Given the description of an element on the screen output the (x, y) to click on. 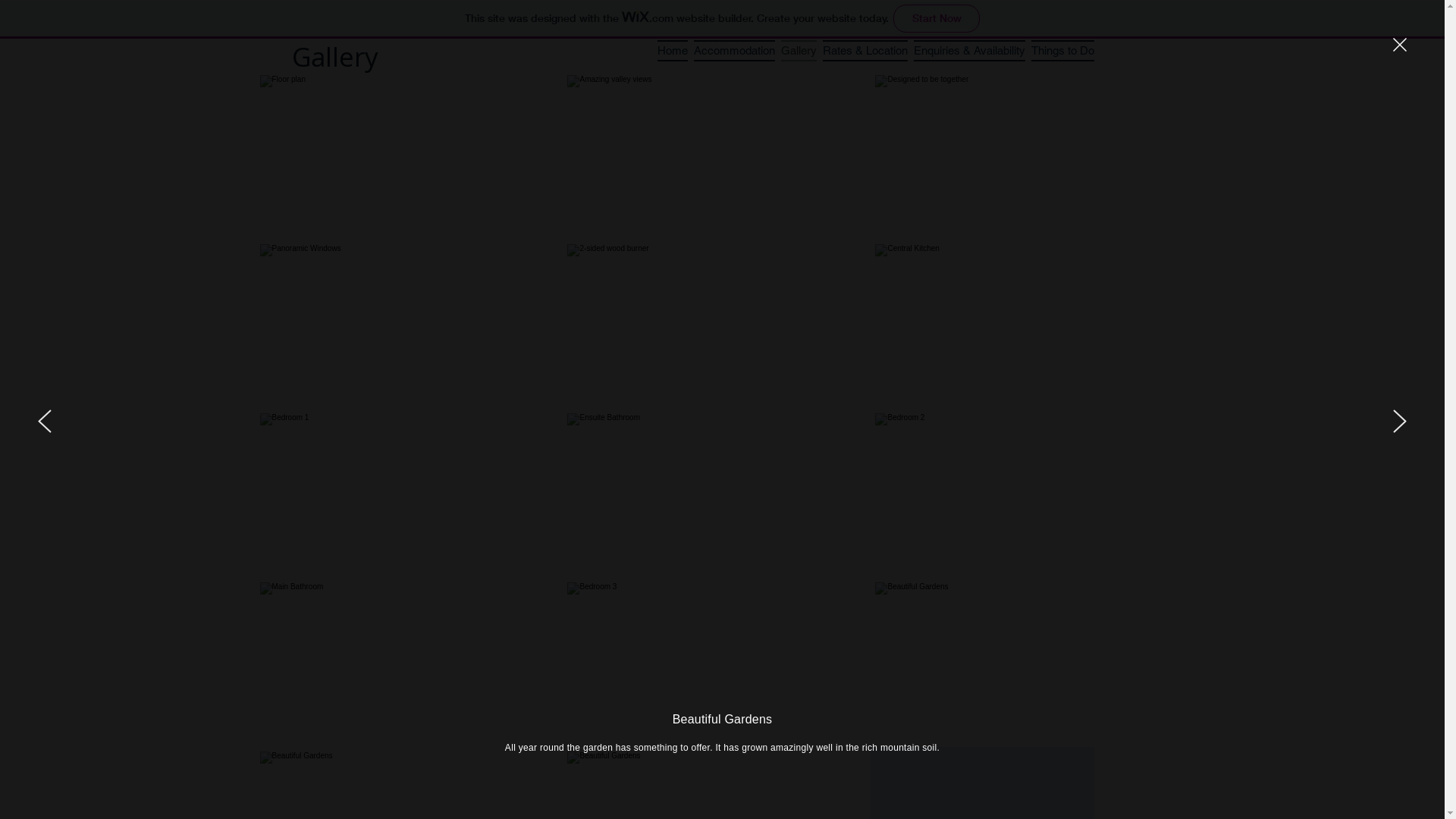
Enquiries & Availability Element type: text (968, 49)
Accommodation Element type: text (733, 49)
Rates & Location Element type: text (864, 49)
Home Element type: text (671, 49)
Things to Do Element type: text (1061, 49)
Gallery Element type: text (798, 49)
